Given the description of an element on the screen output the (x, y) to click on. 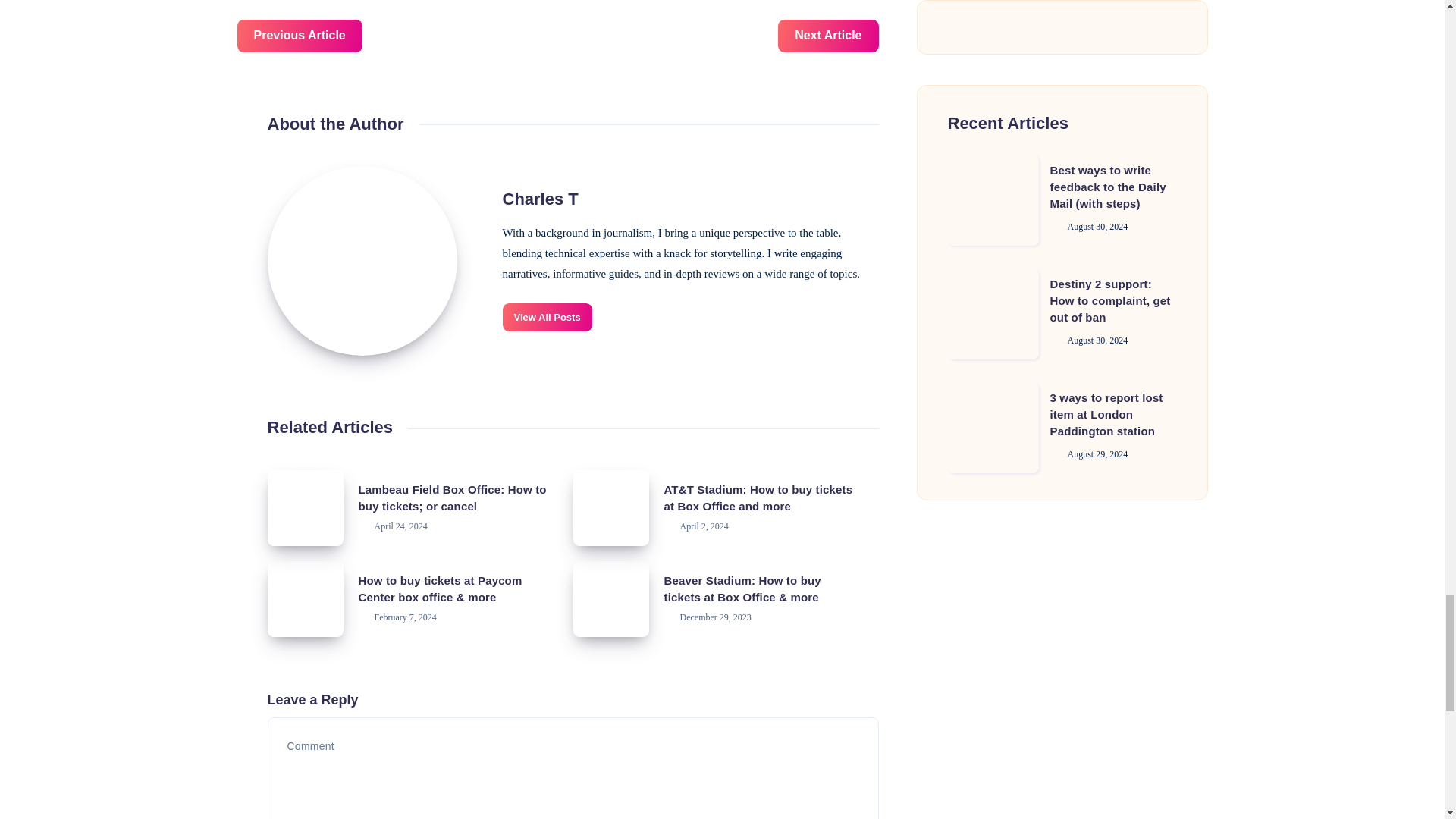
Lambeau Field Box Office: How to buy tickets; or cancel (304, 508)
Lambeau Field Box Office: How to buy tickets; or cancel (452, 497)
Previous Article (298, 35)
Next Article (827, 35)
Charles T (540, 198)
Charles T (361, 260)
View All Posts (546, 317)
